Given the description of an element on the screen output the (x, y) to click on. 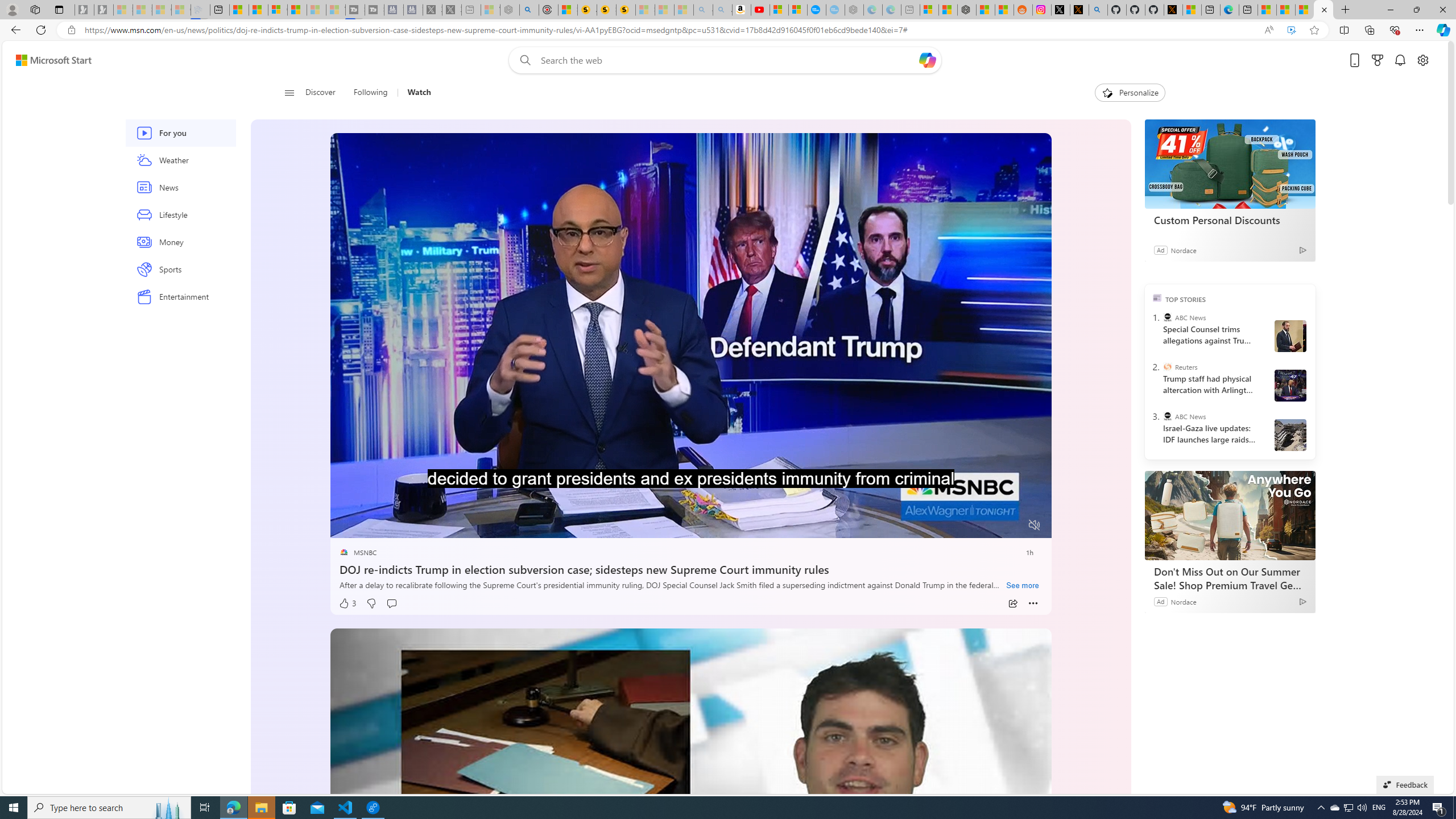
Watch (413, 92)
Open settings (1423, 60)
Log in to X / X (1060, 9)
Michelle Starr, Senior Journalist at ScienceAlert (625, 9)
Discover (325, 92)
Enter your search term (727, 59)
Nordace (1183, 601)
Seek Forward (392, 525)
Split screen (1344, 29)
X Privacy Policy (1173, 9)
